Given the description of an element on the screen output the (x, y) to click on. 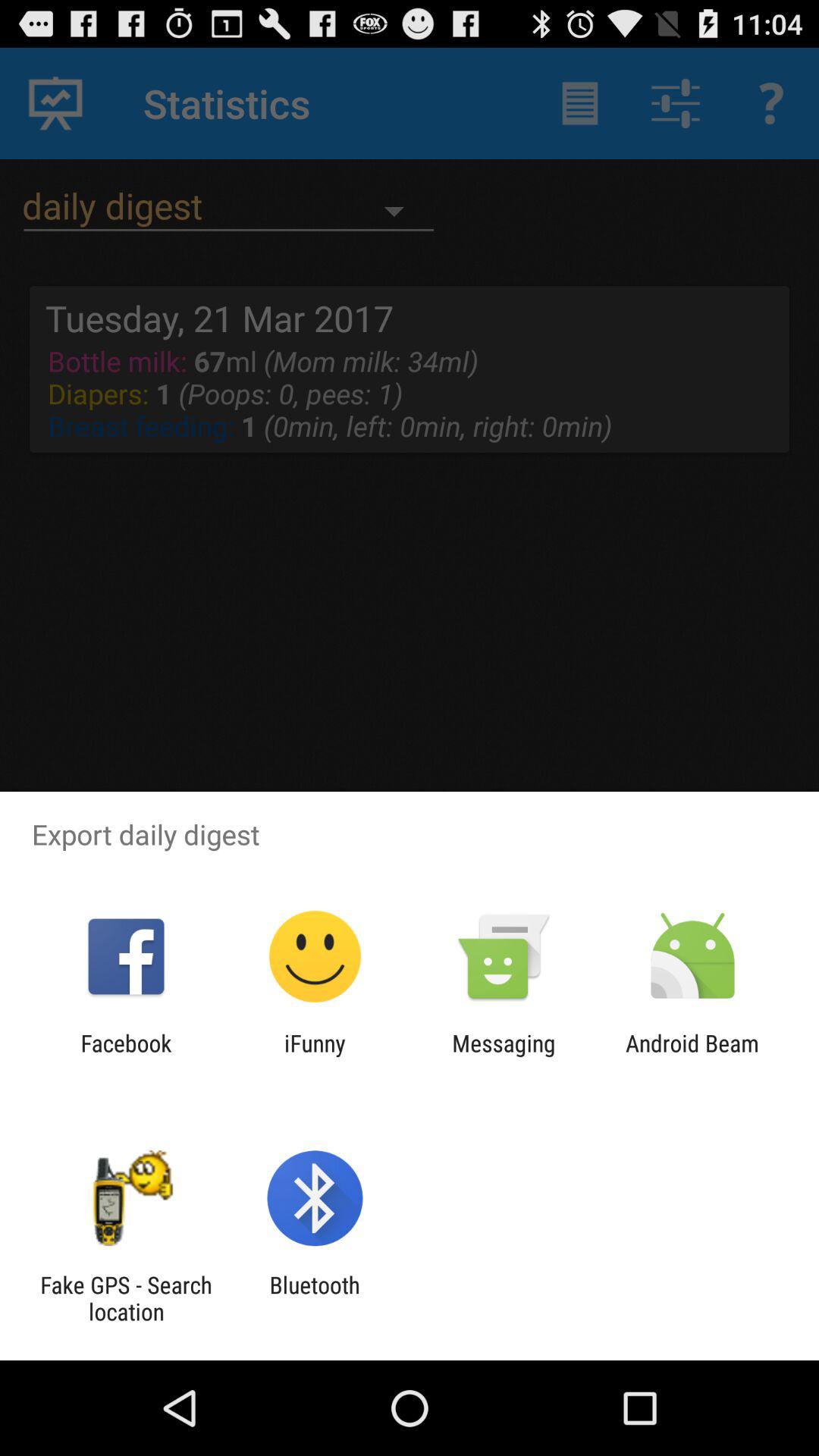
click the app to the right of the messaging app (692, 1056)
